Given the description of an element on the screen output the (x, y) to click on. 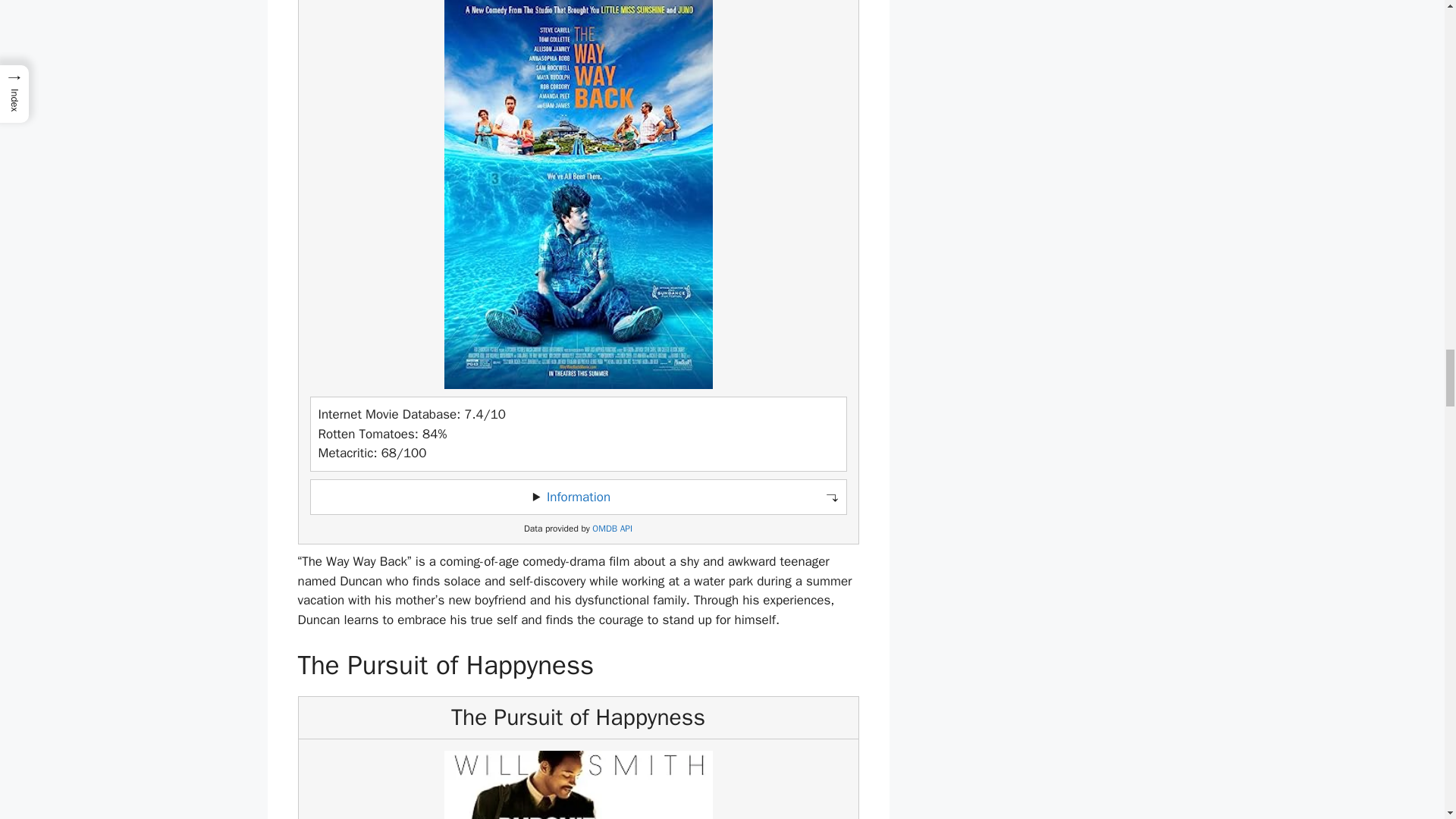
Open Movie Database API (611, 528)
Toggle information (578, 497)
Information (578, 496)
OMDB API (611, 528)
